Given the description of an element on the screen output the (x, y) to click on. 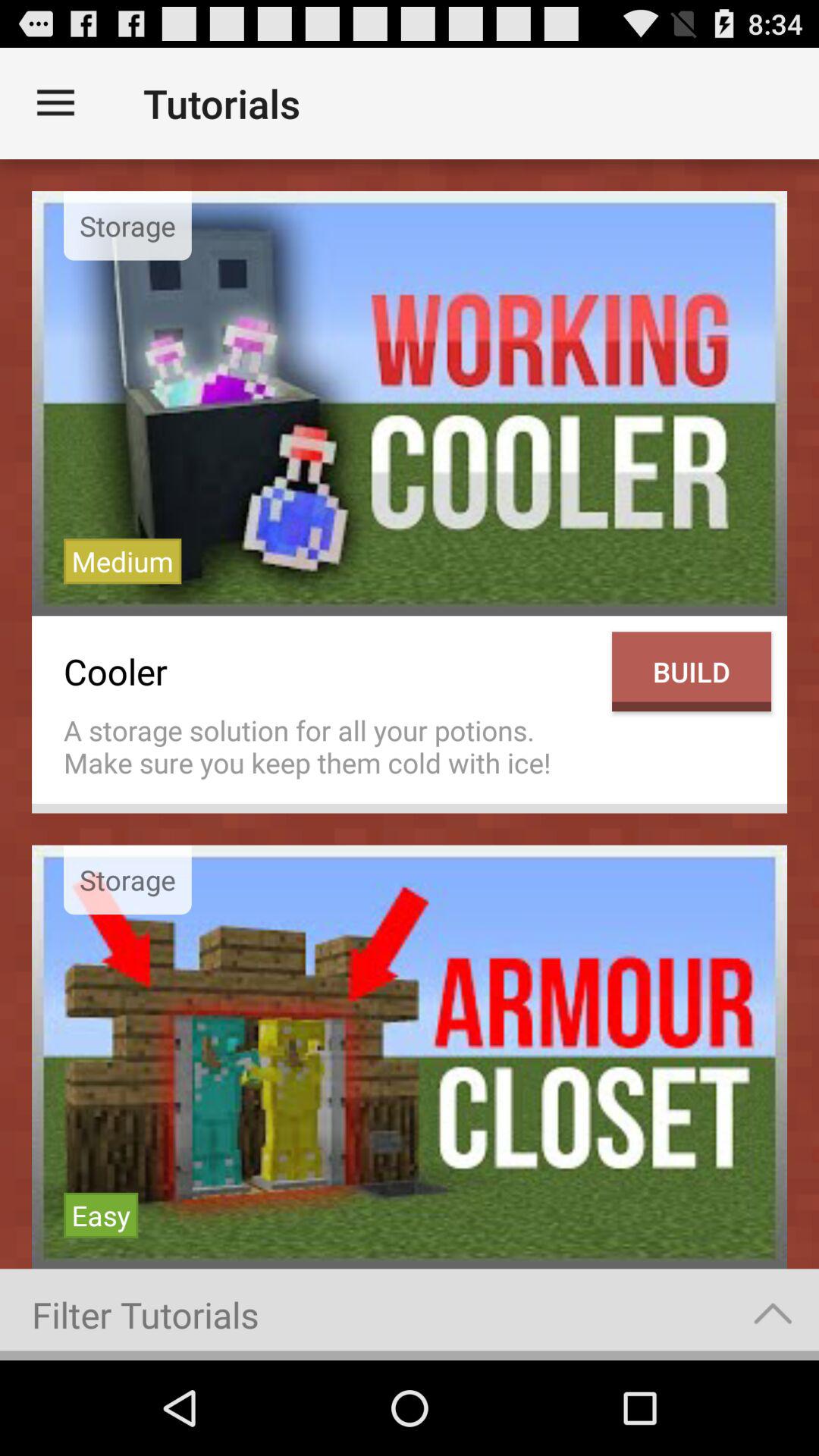
open the item above the a storage solution (329, 671)
